Given the description of an element on the screen output the (x, y) to click on. 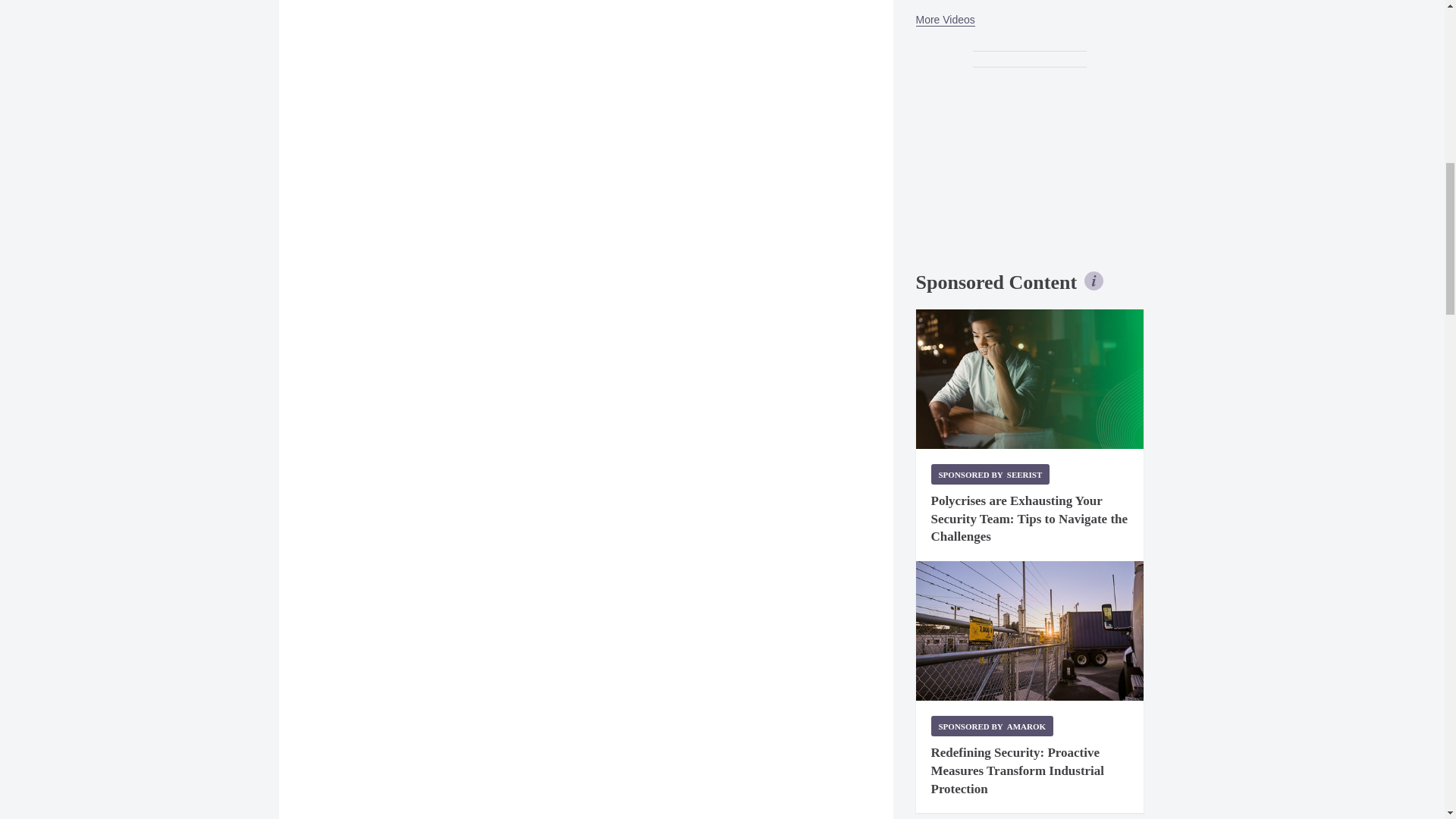
Sponsored by AMAROK (992, 725)
Threat management (1028, 378)
AMAROK Security Gate (1028, 631)
Sponsored by Seerist (990, 474)
